Given the description of an element on the screen output the (x, y) to click on. 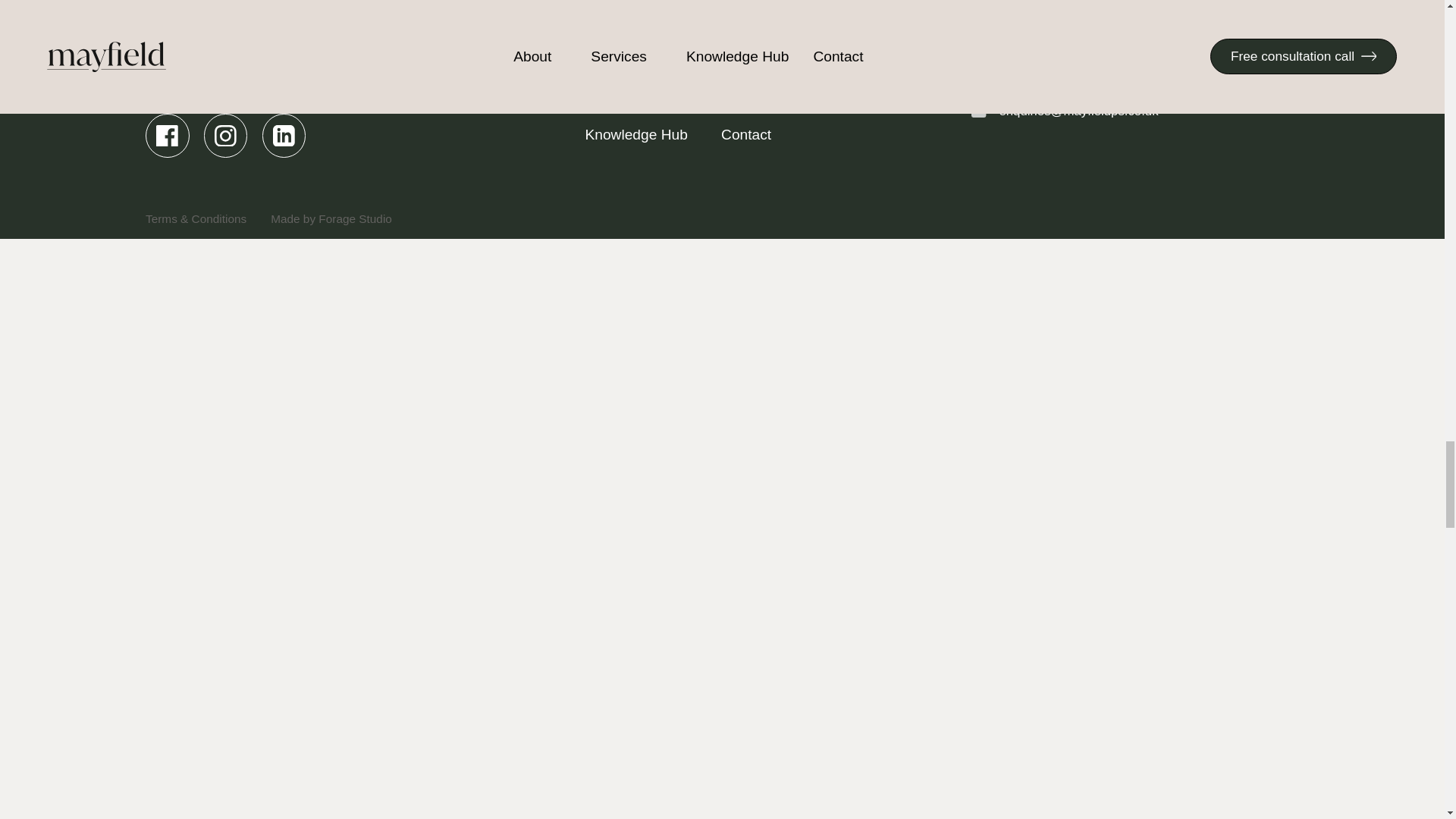
0333 444 0837 (1026, 35)
About (647, 102)
39 Cardiff Road, Llandaff, CF5 2DP (1083, 73)
Finance Brokering (844, 102)
Financial Due Diligence (844, 37)
Sales (647, 69)
Home (647, 37)
Your Dental CFO (844, 69)
Knowledge Hub (647, 135)
Made by Forage Studio (330, 218)
Contact (844, 135)
